Given the description of an element on the screen output the (x, y) to click on. 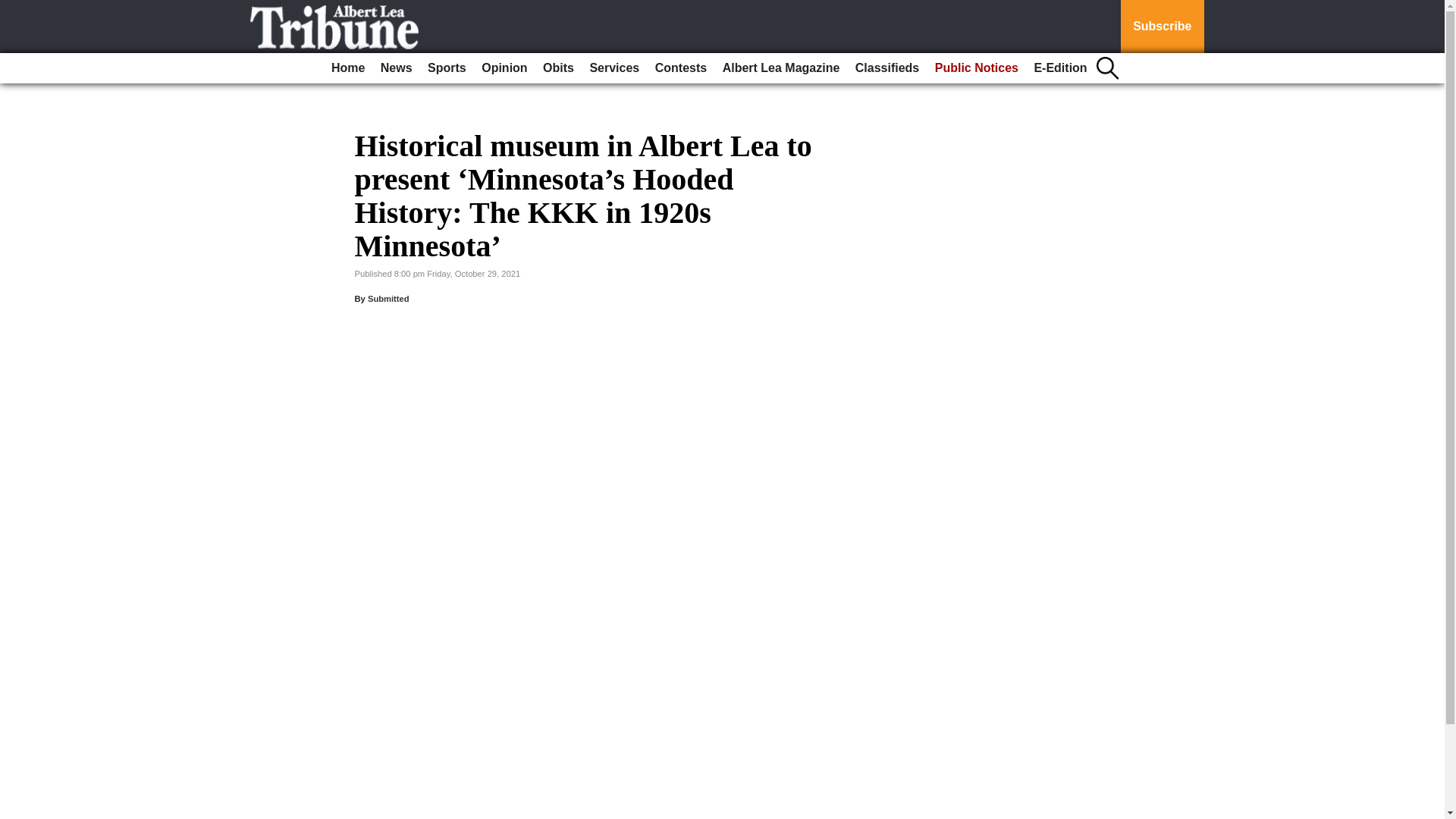
Sports (446, 68)
Opinion (504, 68)
News (396, 68)
Obits (558, 68)
Subscribe (1162, 26)
Home (347, 68)
Services (614, 68)
